Given the description of an element on the screen output the (x, y) to click on. 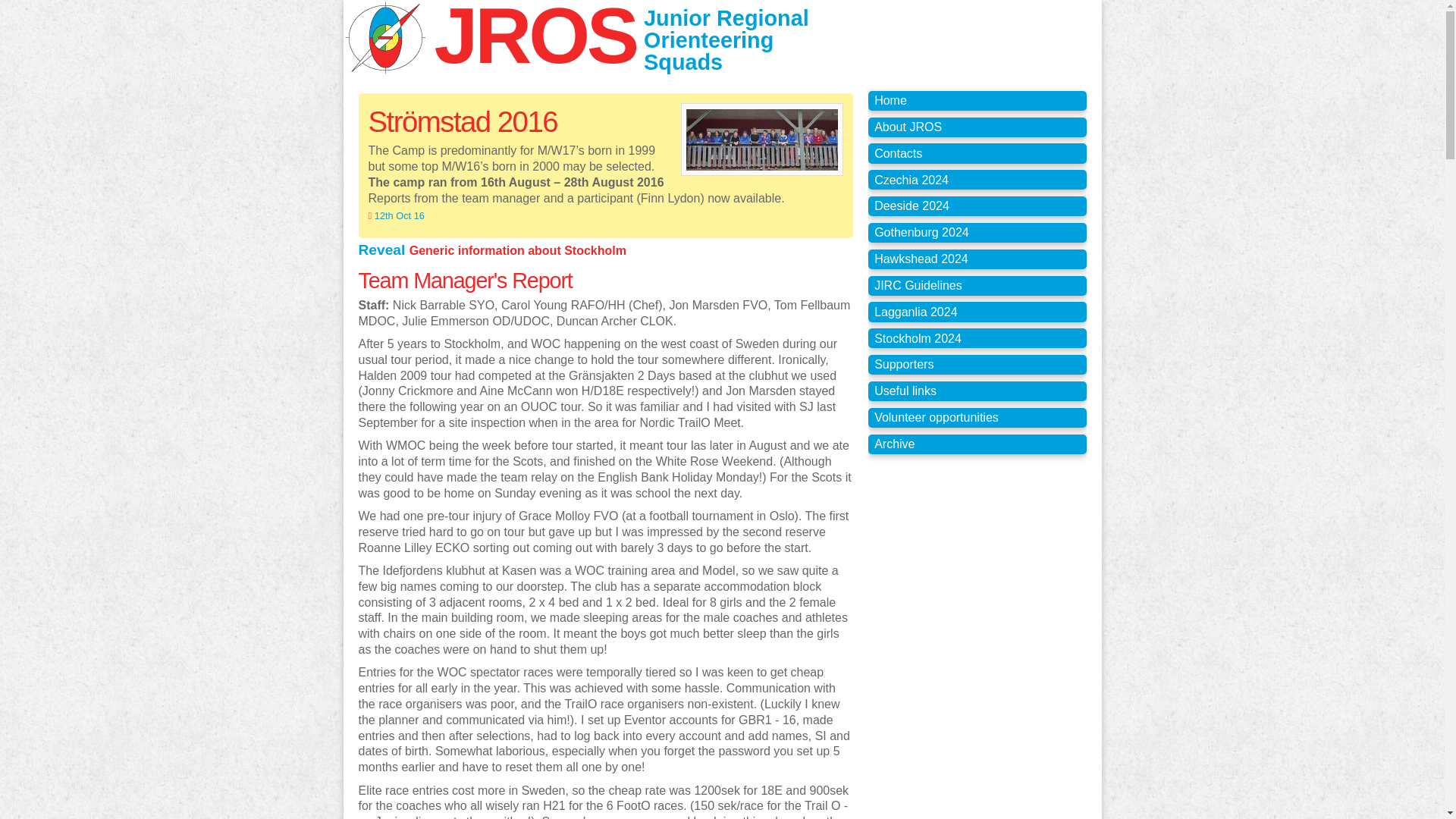
Volunteer opportunities (976, 417)
Hawkshead 2024 (976, 259)
Supporters (976, 364)
Return to the front page of this site (976, 100)
JROS (534, 39)
About JROS (976, 126)
Gothenburg 2024 (976, 232)
Reveal (383, 249)
Lagganlia 2024 (976, 311)
Home (976, 100)
Stockholm 2024 (976, 338)
Archive of older information (976, 444)
Czechia 2024 (976, 179)
Archive (976, 444)
Deeside 2024 (976, 206)
